Given the description of an element on the screen output the (x, y) to click on. 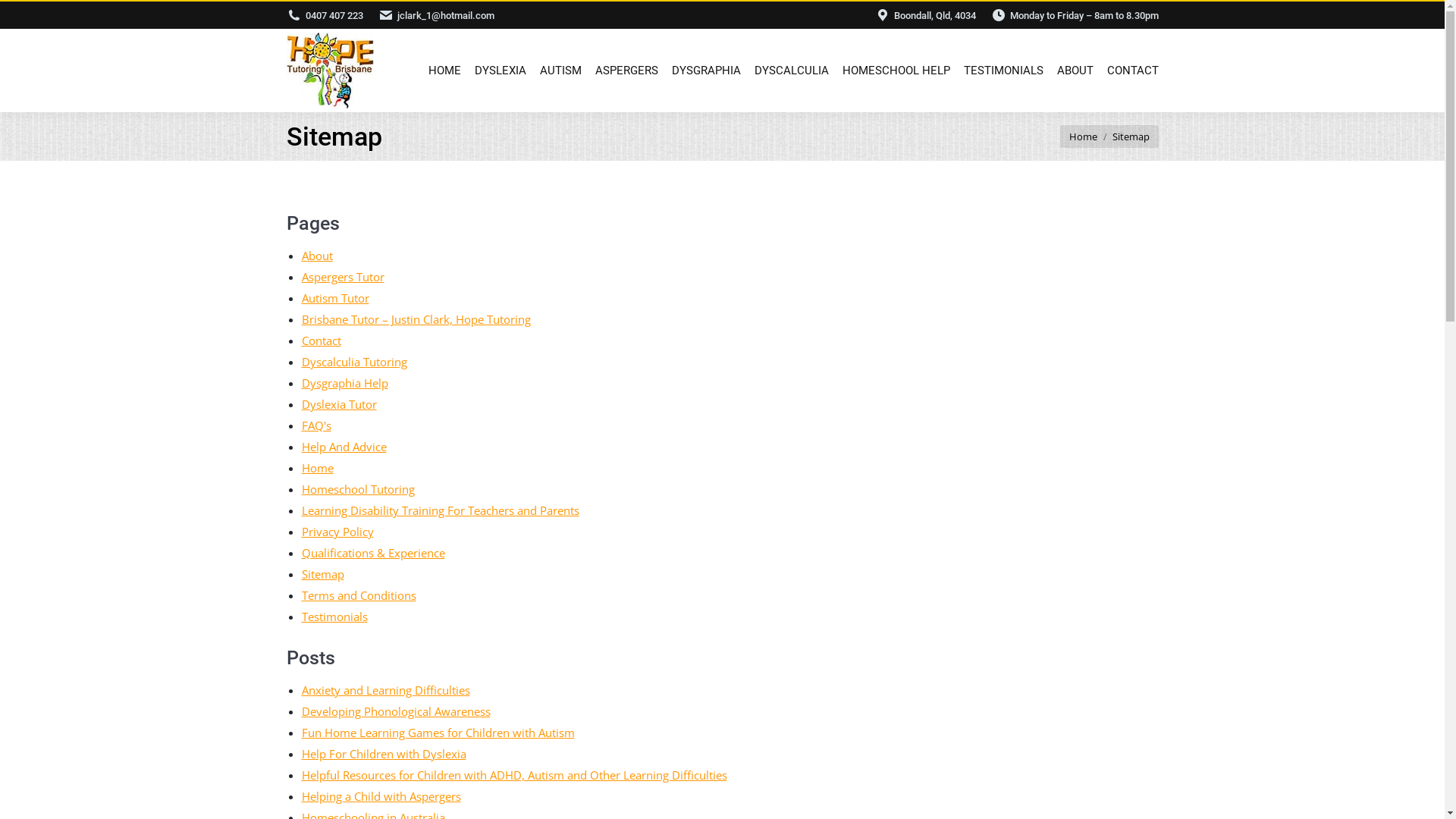
0407 407 223 Element type: text (333, 14)
HOMESCHOOL HELP Element type: text (892, 70)
TESTIMONIALS Element type: text (999, 70)
Anxiety and Learning Difficulties Element type: text (385, 689)
DYSLEXIA Element type: text (497, 70)
HOME Element type: text (440, 70)
Dyscalculia Tutoring Element type: text (354, 361)
FAQ's Element type: text (316, 425)
Testimonials Element type: text (334, 616)
Dysgraphia Help Element type: text (344, 382)
Privacy Policy Element type: text (337, 531)
Developing Phonological Awareness Element type: text (395, 710)
Learning Disability Training For Teachers and Parents Element type: text (440, 509)
Home Element type: text (317, 467)
DYSCALCULIA Element type: text (787, 70)
AUTISM Element type: text (557, 70)
About Element type: text (316, 255)
Help For Children with Dyslexia Element type: text (383, 753)
Help And Advice Element type: text (343, 446)
Dyslexia Tutor Element type: text (338, 403)
Fun Home Learning Games for Children with Autism Element type: text (437, 732)
Helping a Child with Aspergers Element type: text (381, 795)
Contact Element type: text (321, 340)
CONTACT Element type: text (1129, 70)
Qualifications & Experience Element type: text (373, 552)
Home Element type: text (1083, 136)
Aspergers Tutor Element type: text (342, 276)
Terms and Conditions Element type: text (358, 594)
Homeschool Tutoring Element type: text (357, 488)
ABOUT Element type: text (1072, 70)
ASPERGERS Element type: text (622, 70)
DYSGRAPHIA Element type: text (702, 70)
Autism Tutor Element type: text (335, 297)
Sitemap Element type: text (322, 573)
